Given the description of an element on the screen output the (x, y) to click on. 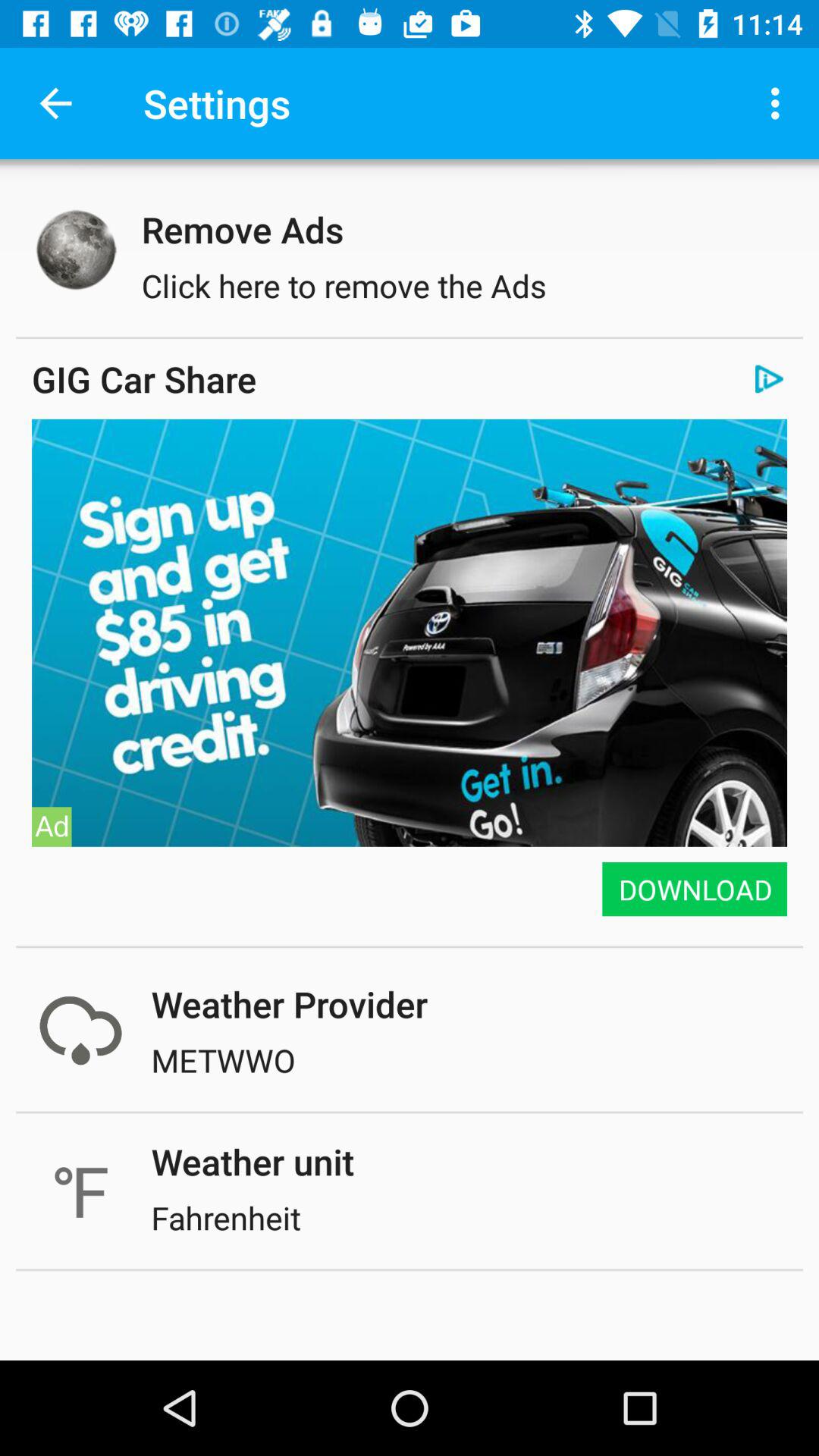
launch the download (693, 888)
